Given the description of an element on the screen output the (x, y) to click on. 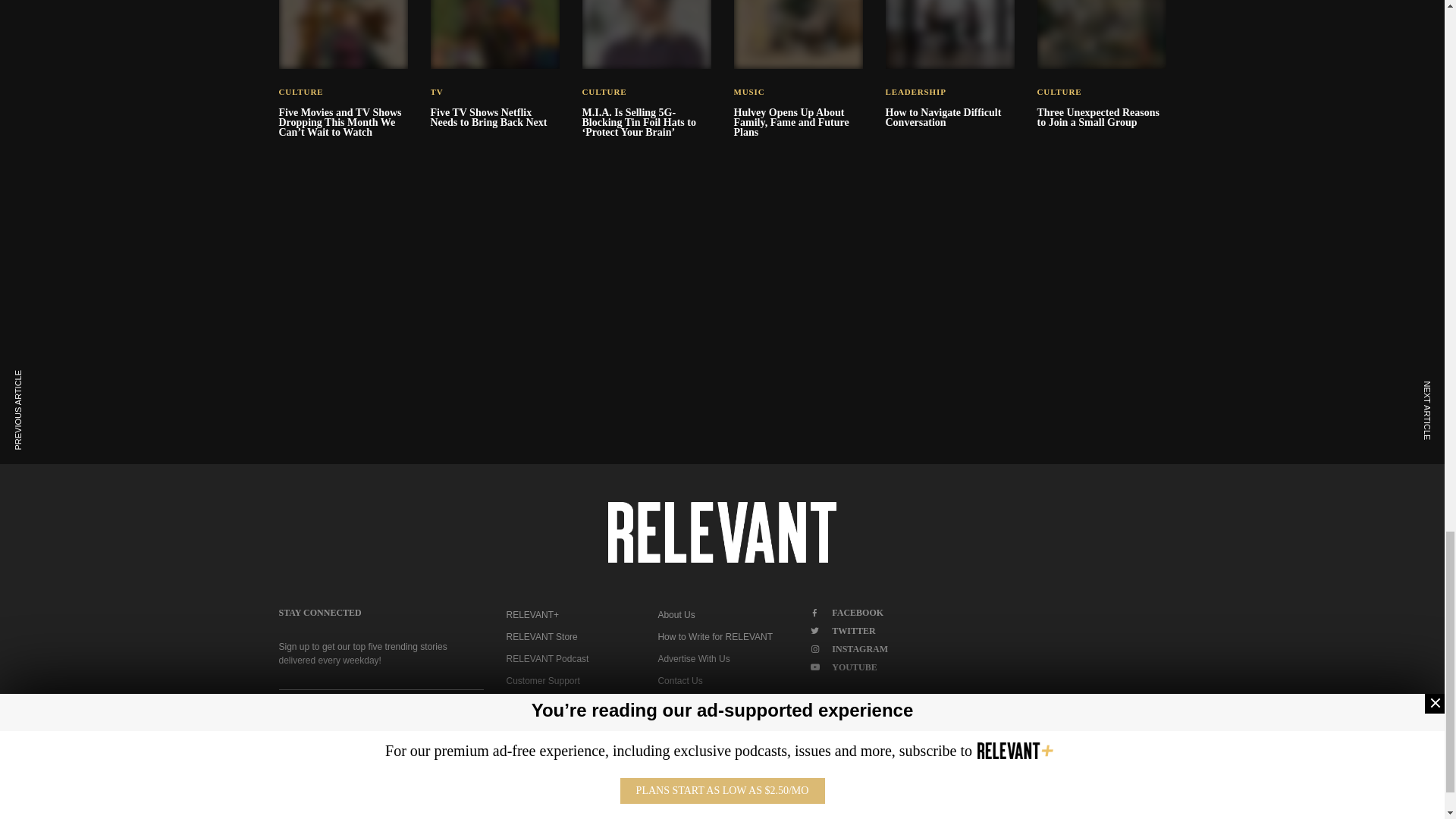
Subscribe (381, 709)
